Given the description of an element on the screen output the (x, y) to click on. 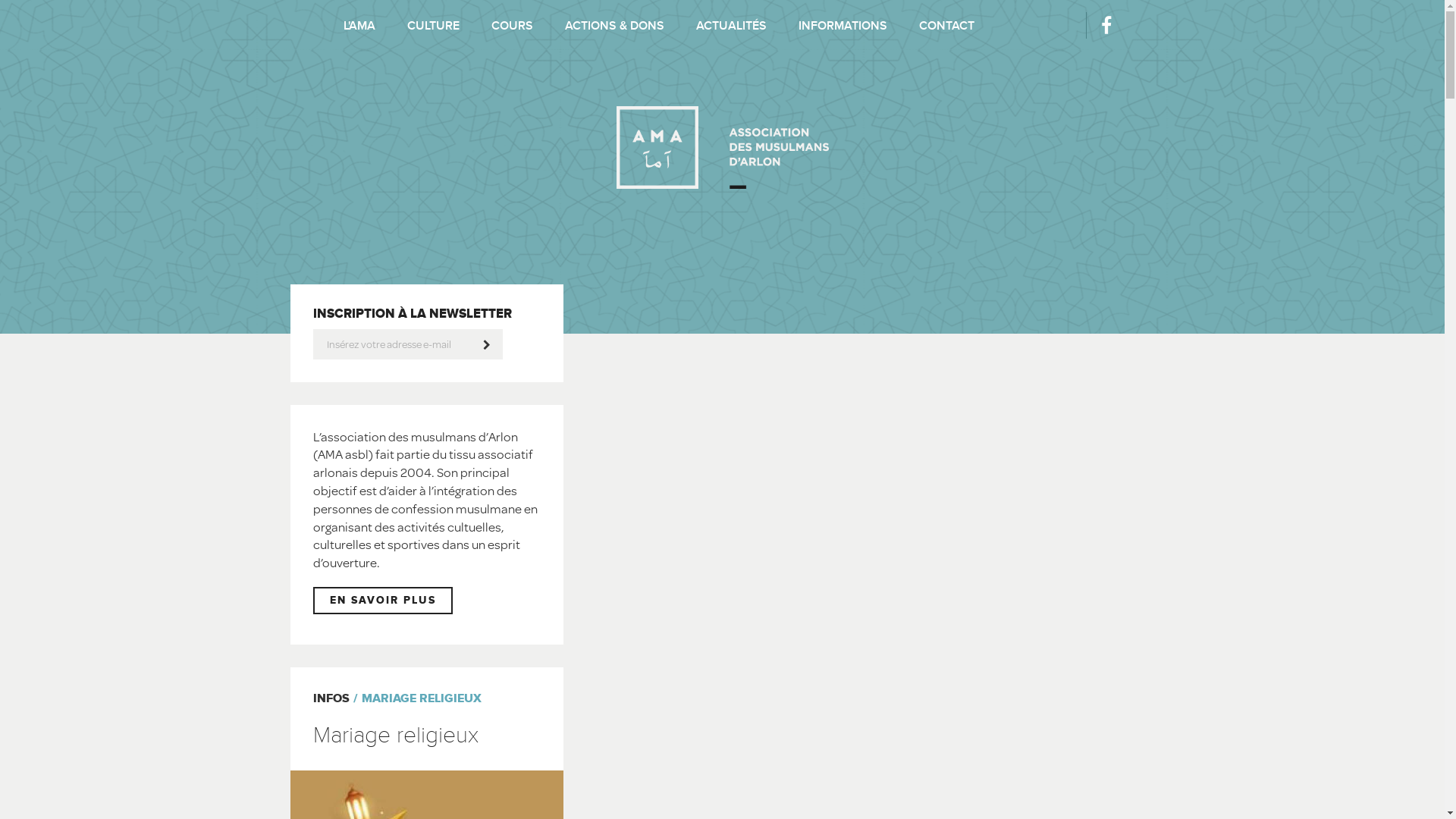
Mariage religieux Element type: text (394, 735)
CULTURE Element type: text (432, 25)
CONTACT Element type: text (946, 25)
EN SAVOIR PLUS Element type: text (381, 600)
L'AMA Element type: text (358, 25)
COURS Element type: text (512, 25)
INFORMATIONS Element type: text (841, 25)
ACTIONS & DONS Element type: text (613, 25)
